Given the description of an element on the screen output the (x, y) to click on. 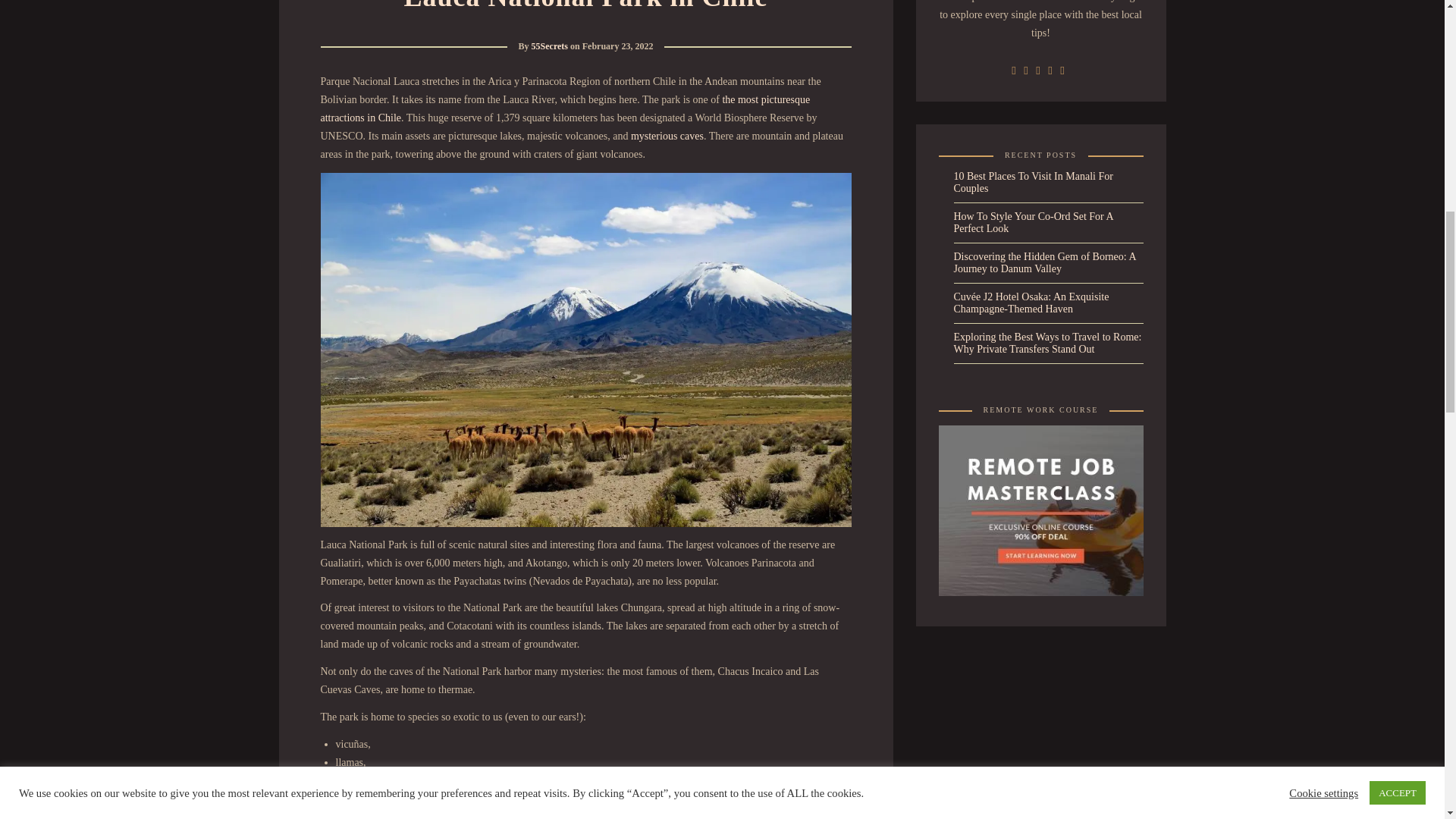
the most picturesque attractions in Chile (564, 108)
Posts by 55Secrets (549, 45)
mysterious caves (666, 135)
REMOTE WORK COURSE (1040, 510)
55Secrets (549, 45)
